Given the description of an element on the screen output the (x, y) to click on. 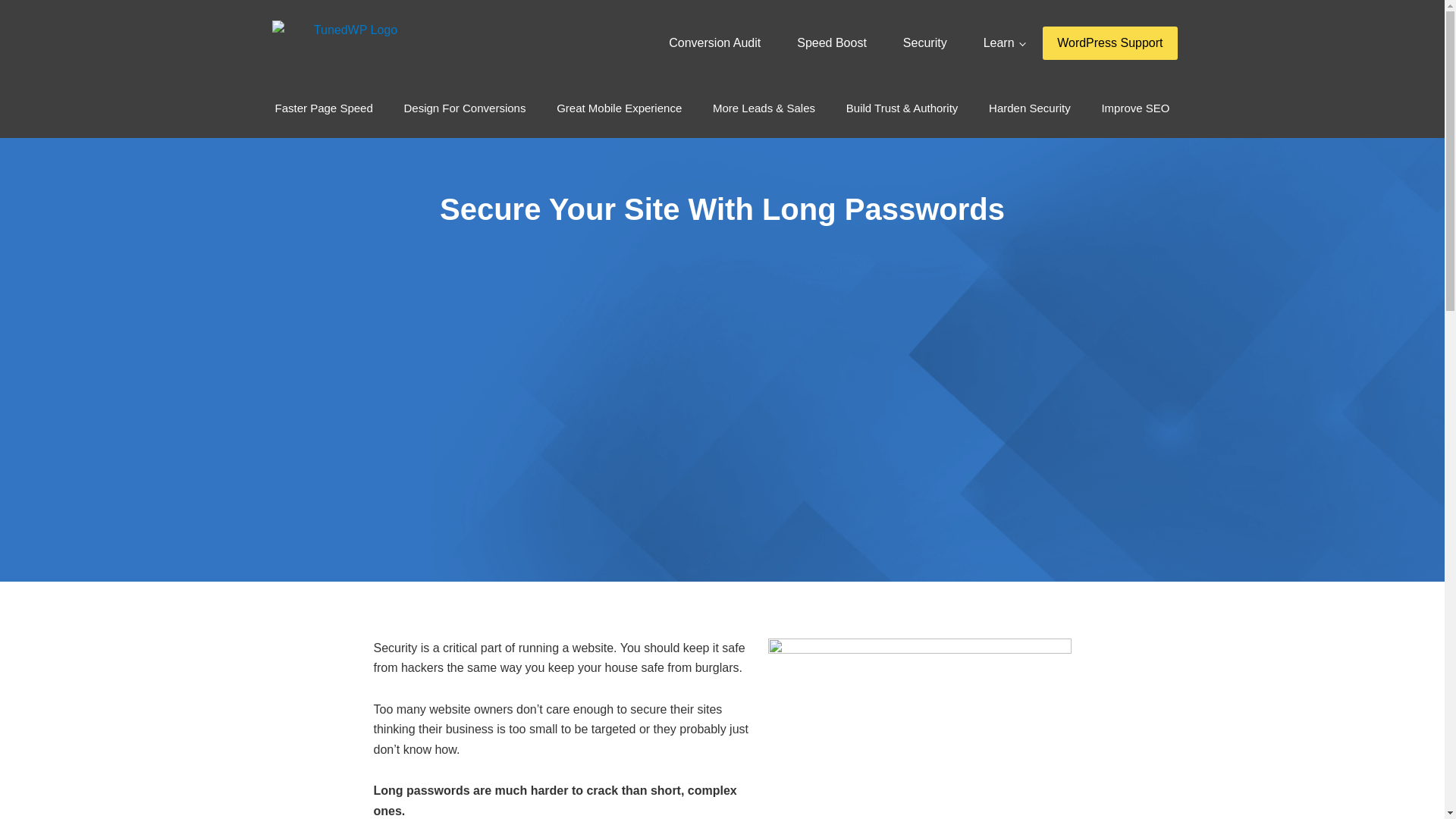
Security (925, 42)
Speed Boost (831, 42)
Harden Security (1029, 108)
Great Mobile Experience (618, 108)
WordPress Support (1109, 42)
Learn (1004, 42)
Conversion Audit (714, 42)
Faster Page Speed (323, 108)
Design For Conversions (464, 108)
Improve SEO (1134, 108)
